Given the description of an element on the screen output the (x, y) to click on. 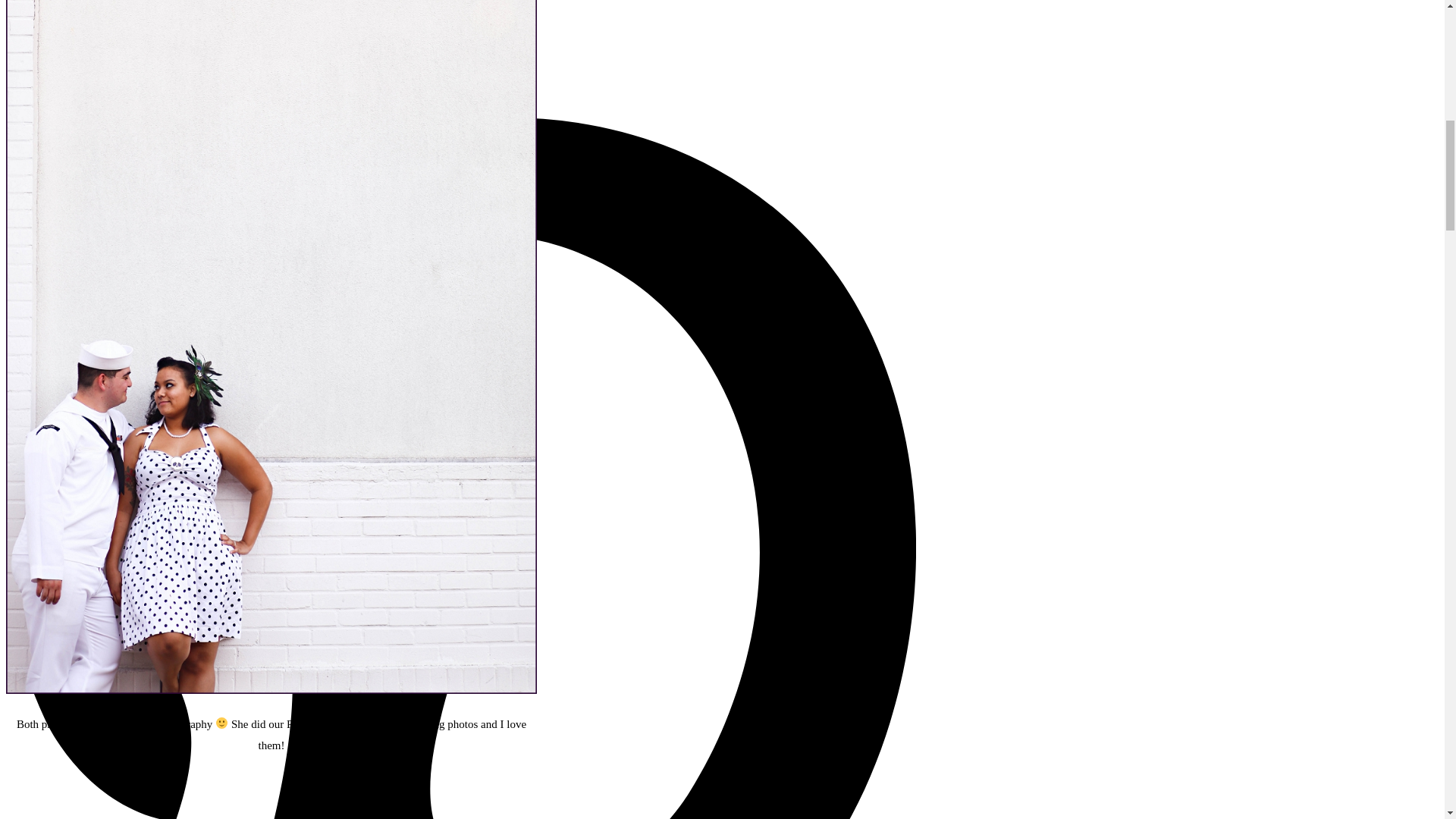
FOR PHOTOGRAPHERS (460, 53)
BOUDOIR (460, 108)
